Given the description of an element on the screen output the (x, y) to click on. 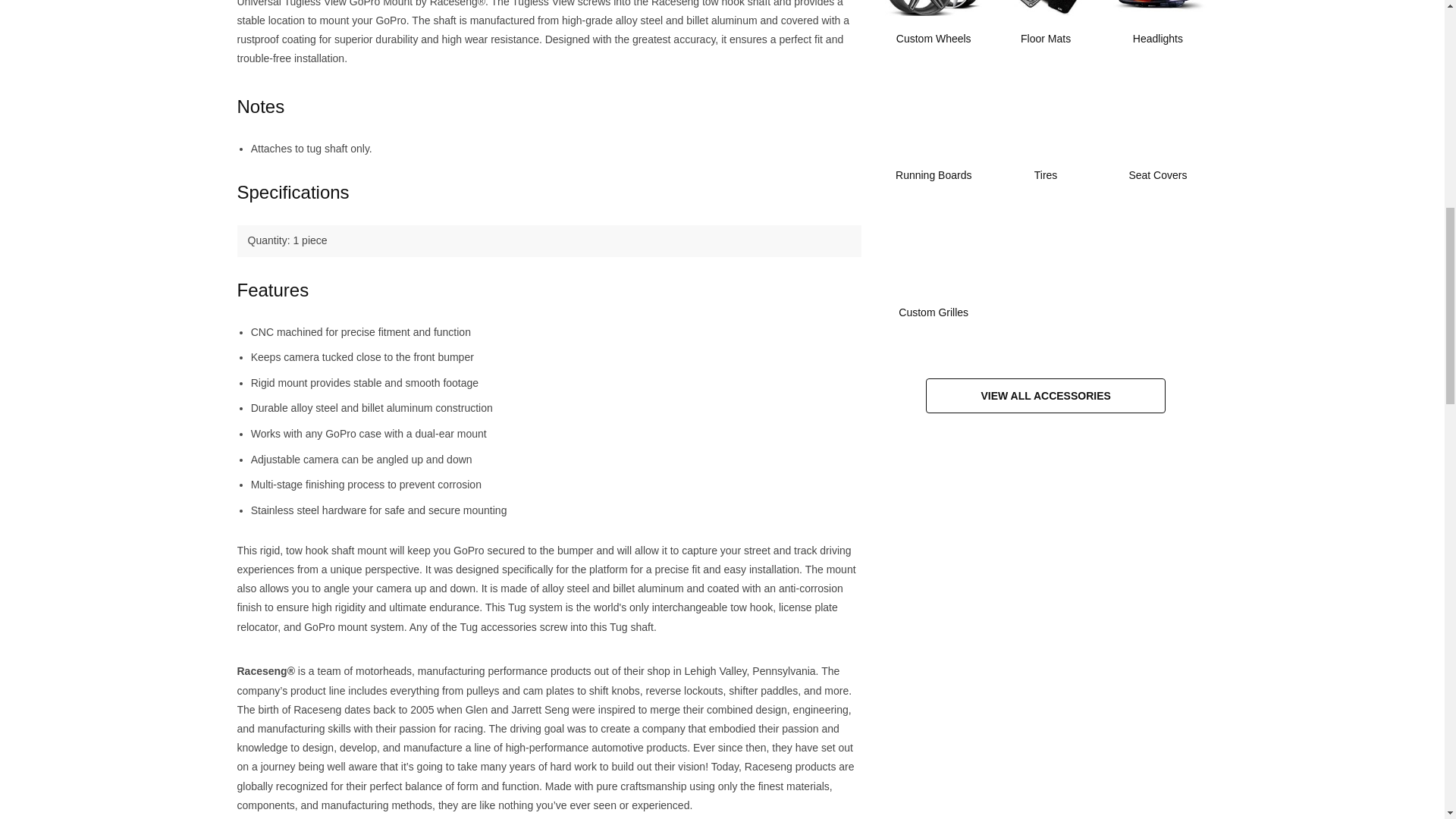
Custom Wheels (933, 33)
Floor Mats (1045, 33)
